Given the description of an element on the screen output the (x, y) to click on. 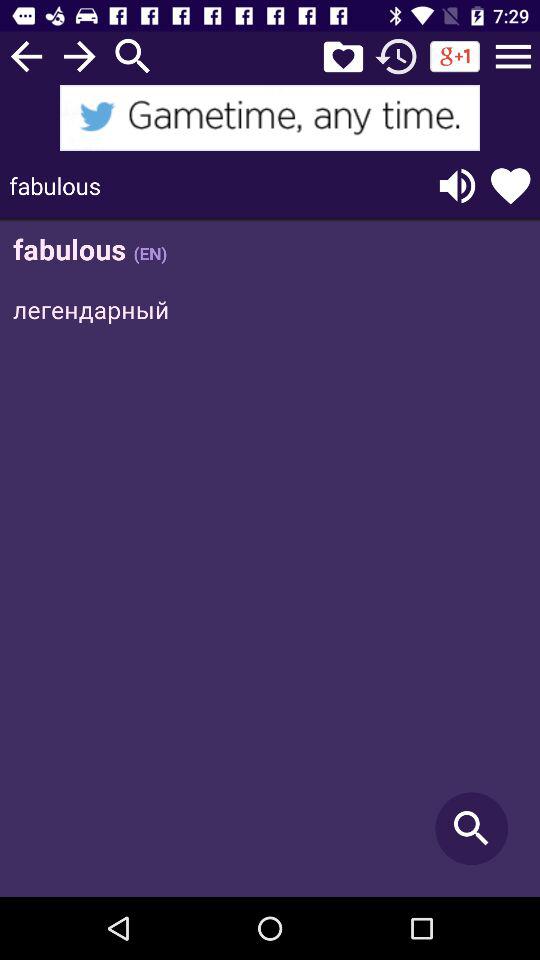
like that word (510, 185)
